Given the description of an element on the screen output the (x, y) to click on. 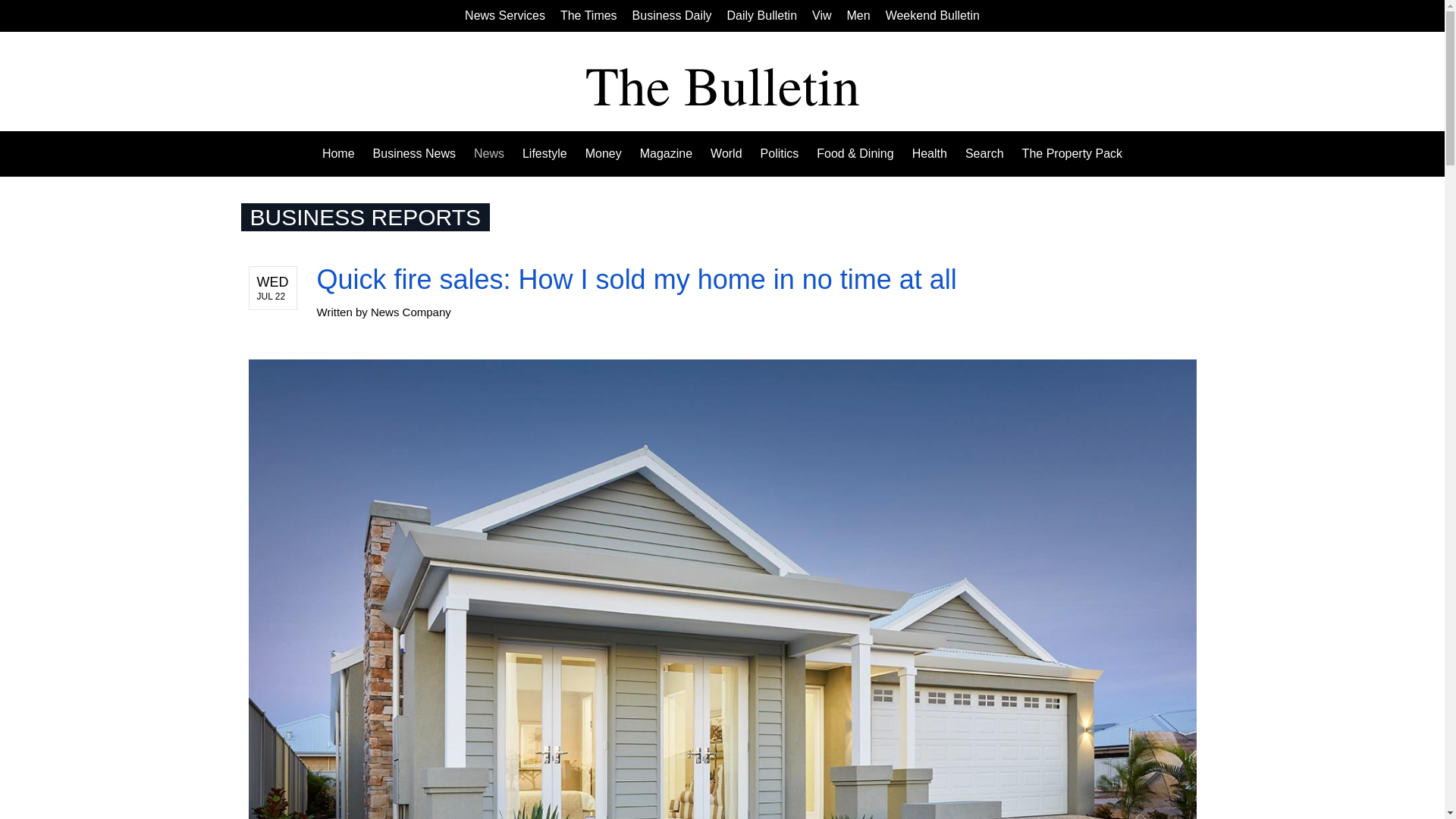
World (726, 153)
News (488, 153)
Magazine (665, 153)
Business Daily (671, 15)
The Times (588, 15)
The Property Pack (1067, 153)
Home (342, 153)
Weekend Bulletin (932, 15)
Daily Bulletin (761, 15)
Lifestyle (544, 153)
